Given the description of an element on the screen output the (x, y) to click on. 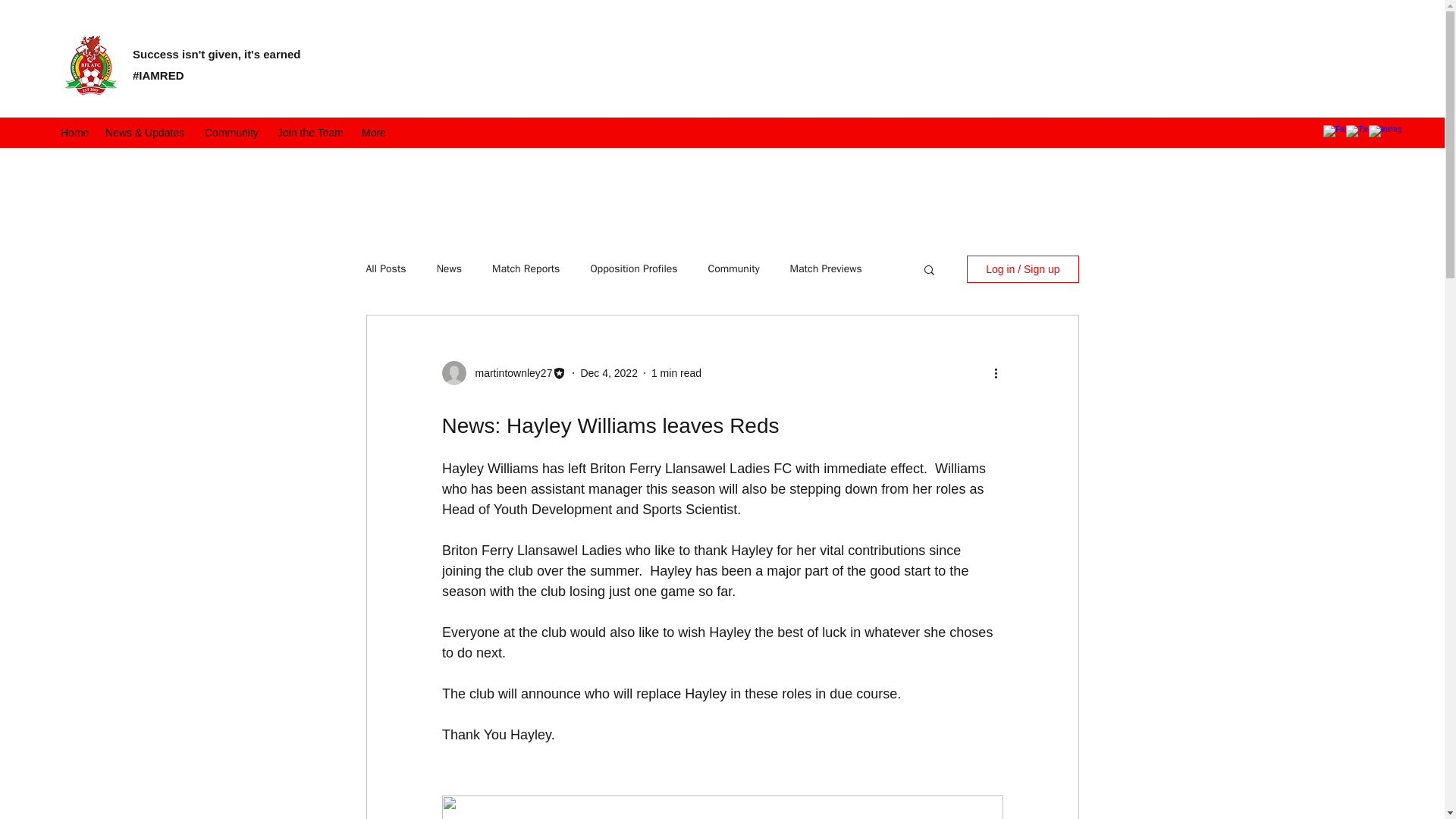
Match Previews (825, 269)
News (448, 269)
1 min read (675, 372)
Community (733, 269)
Join the Team (311, 132)
martintownley27 (508, 373)
Dec 4, 2022 (608, 372)
All Posts (385, 269)
Match Reports (525, 269)
Success isn't given, it's earned (215, 53)
